Given the description of an element on the screen output the (x, y) to click on. 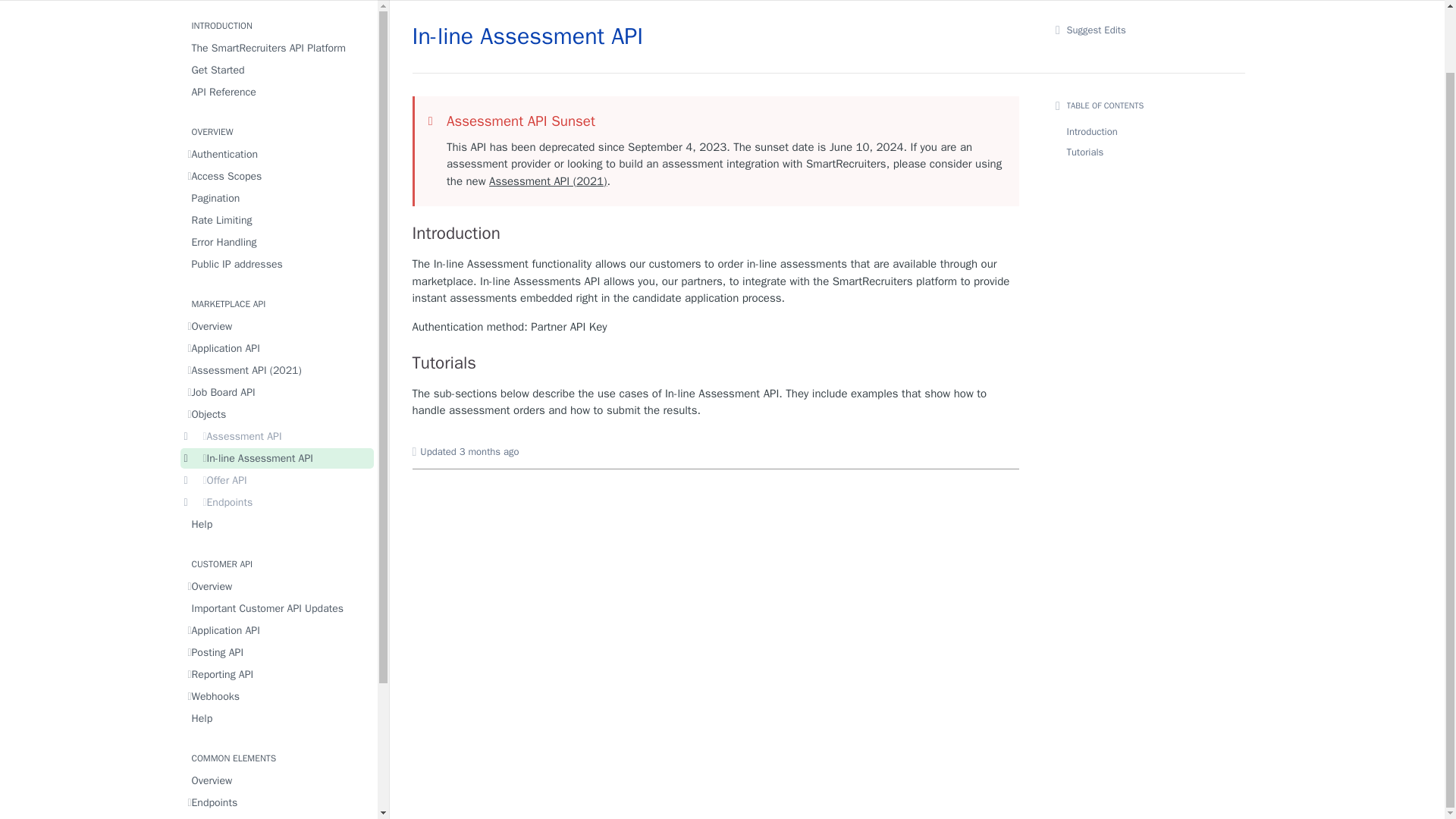
Pagination (277, 198)
Authentication (277, 154)
Tutorials (715, 362)
Overview (277, 326)
Public IP addresses (277, 263)
Get Started (277, 69)
API Reference (277, 91)
Access Scopes (277, 176)
Introduction (715, 233)
Rate Limiting (277, 219)
The SmartRecruiters API Platform (277, 47)
Error Handling (277, 241)
Application API (277, 348)
